Given the description of an element on the screen output the (x, y) to click on. 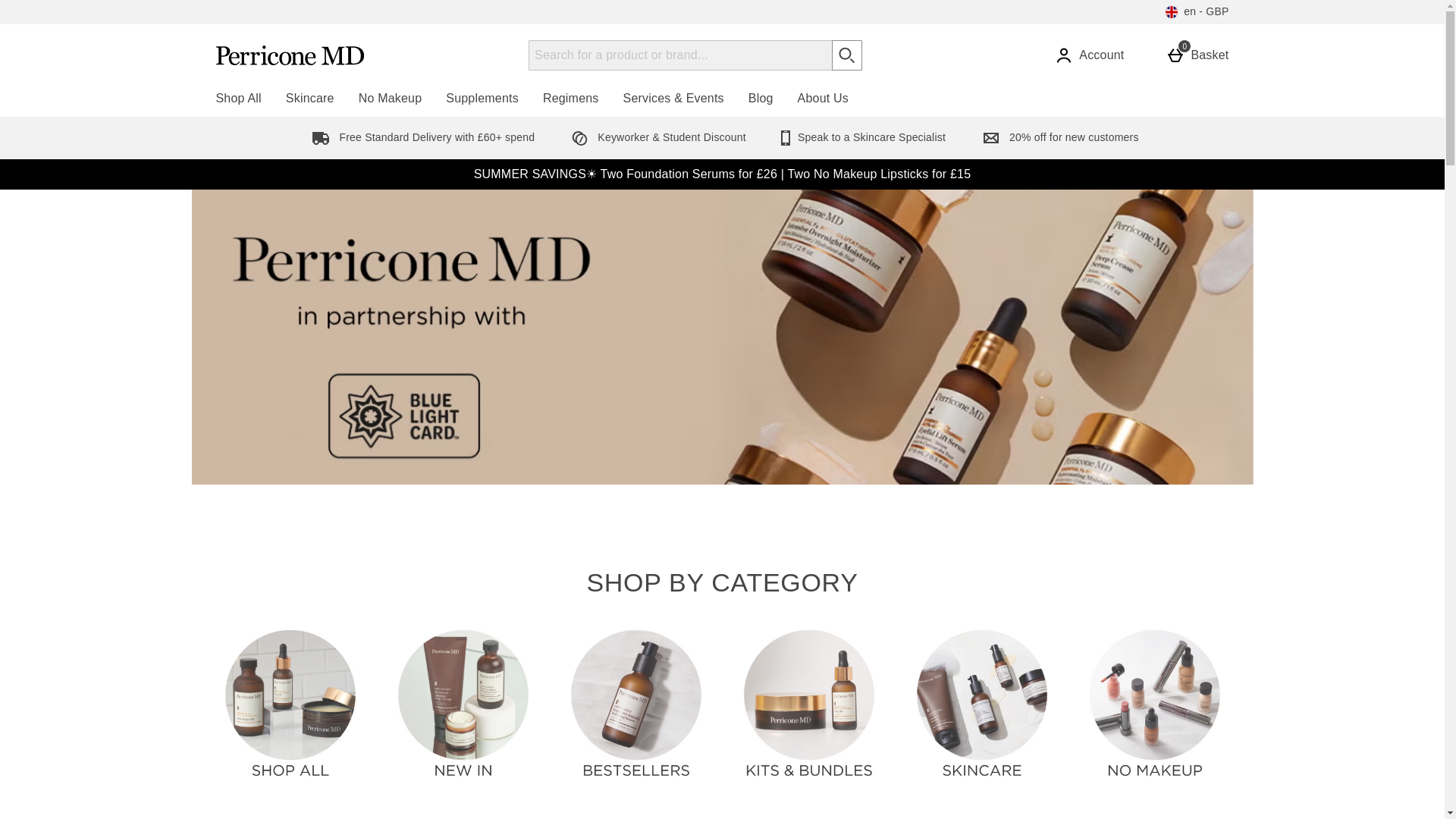
Skip to main content (49, 5)
Skincare (309, 98)
en - GBP (1196, 12)
Shop All (238, 98)
Account (1200, 55)
Start search (1091, 55)
